Given the description of an element on the screen output the (x, y) to click on. 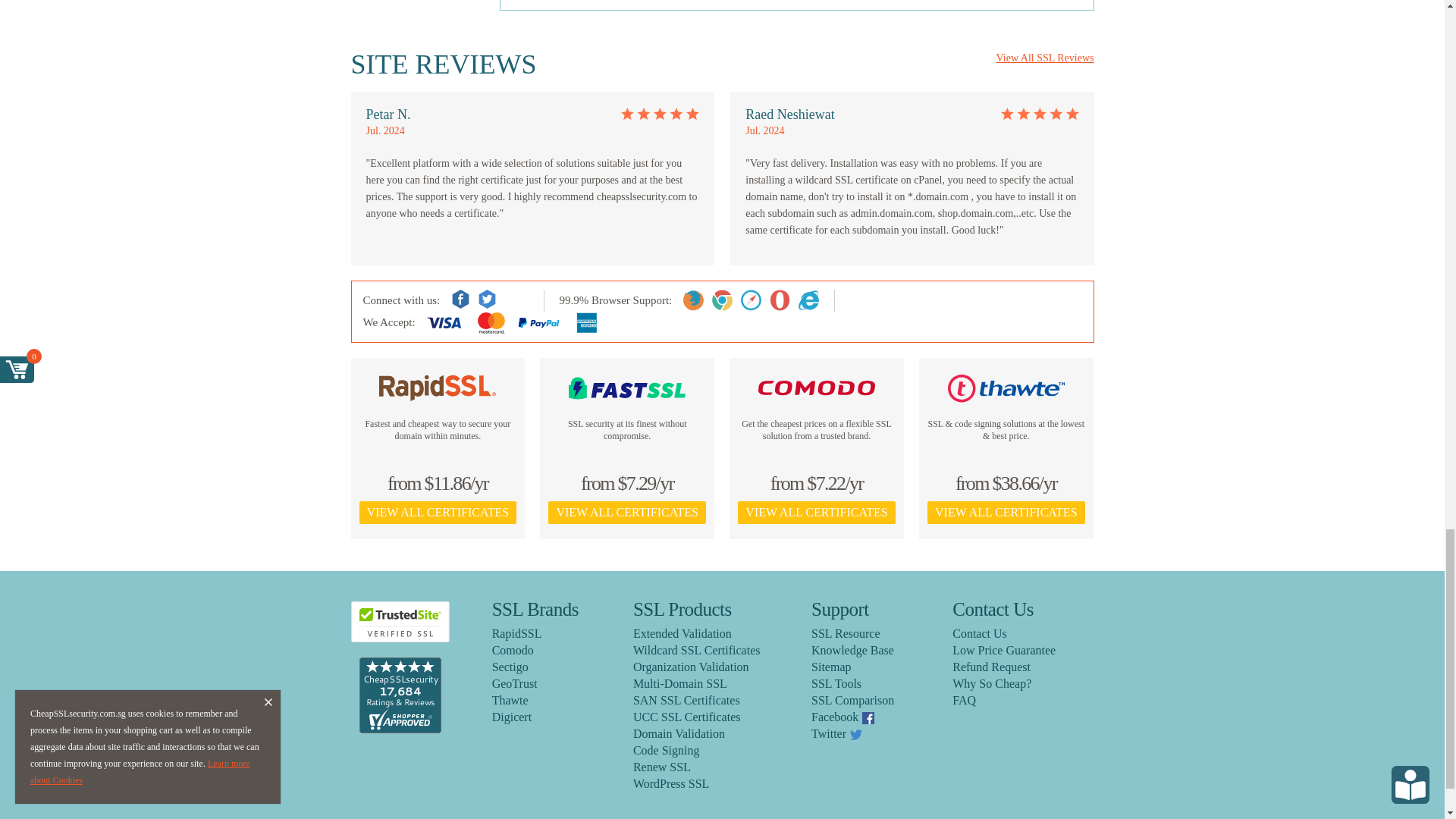
View All Certificates (1005, 512)
View All Certificates (437, 512)
View All Certificates (626, 512)
View All Certificates (816, 512)
